Given the description of an element on the screen output the (x, y) to click on. 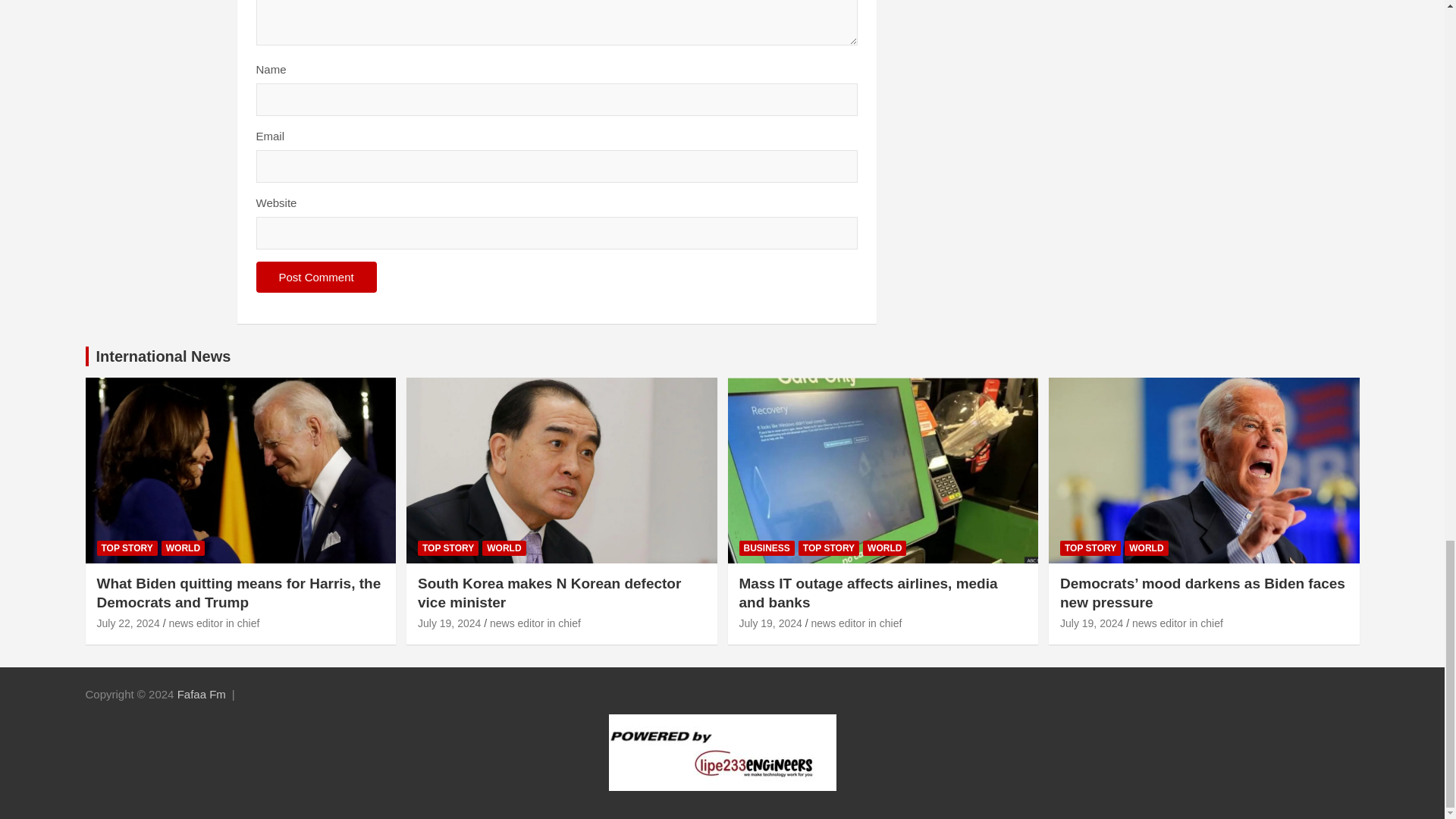
TOP STORY (448, 548)
Mass IT outage affects airlines, media and banks (770, 623)
news editor in chief (213, 623)
WORLD (503, 548)
International News (163, 356)
South Korea makes N Korean defector vice minister (448, 623)
Fafaa Fm (201, 694)
July 19, 2024 (448, 623)
South Korea makes N Korean defector vice minister (549, 592)
WORLD (183, 548)
news editor in chief (534, 623)
TOP STORY (127, 548)
Post Comment (316, 276)
